Given the description of an element on the screen output the (x, y) to click on. 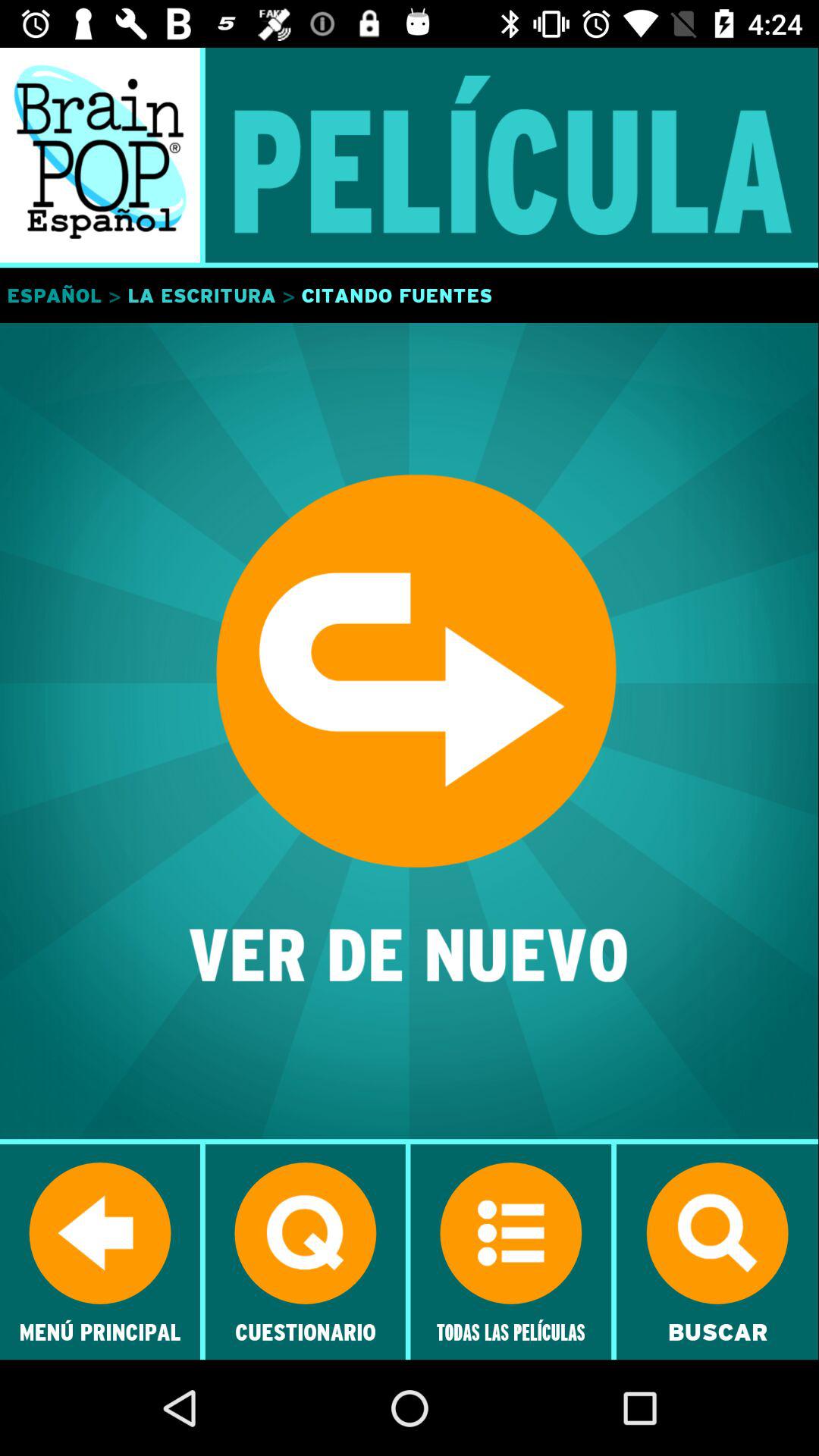
ver de nuevo (409, 732)
